Given the description of an element on the screen output the (x, y) to click on. 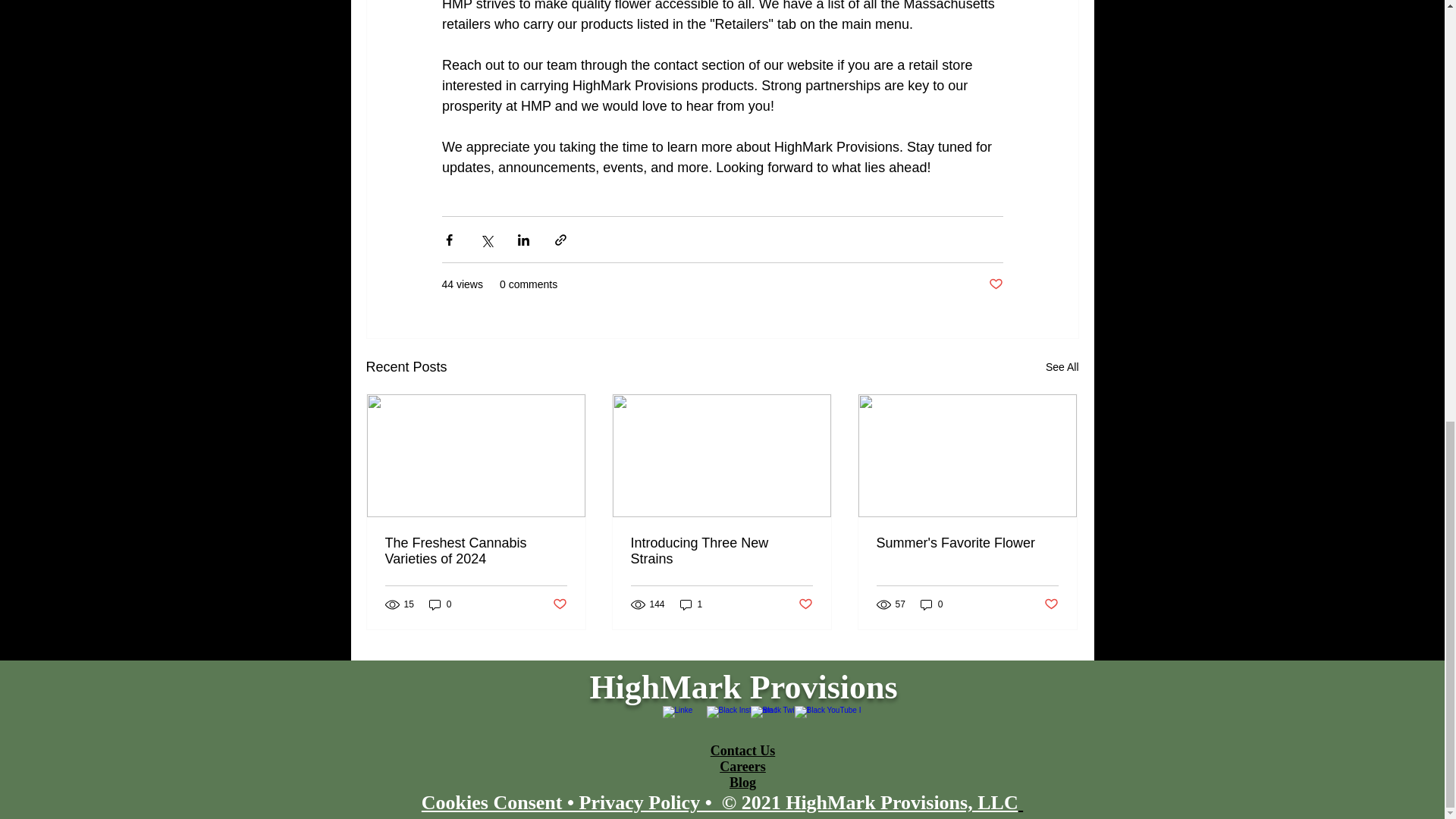
See All (1061, 367)
The Freshest Cannabis Varieties of 2024 (476, 551)
0 (931, 604)
1 (691, 604)
Post not marked as liked (995, 284)
Post not marked as liked (558, 603)
Summer's Favorite Flower (967, 543)
Contact Us (743, 750)
Post not marked as liked (1050, 603)
Introducing Three New Strains (721, 551)
Post not marked as liked (804, 603)
Blog (742, 782)
0 (440, 604)
Careers (742, 766)
